Given the description of an element on the screen output the (x, y) to click on. 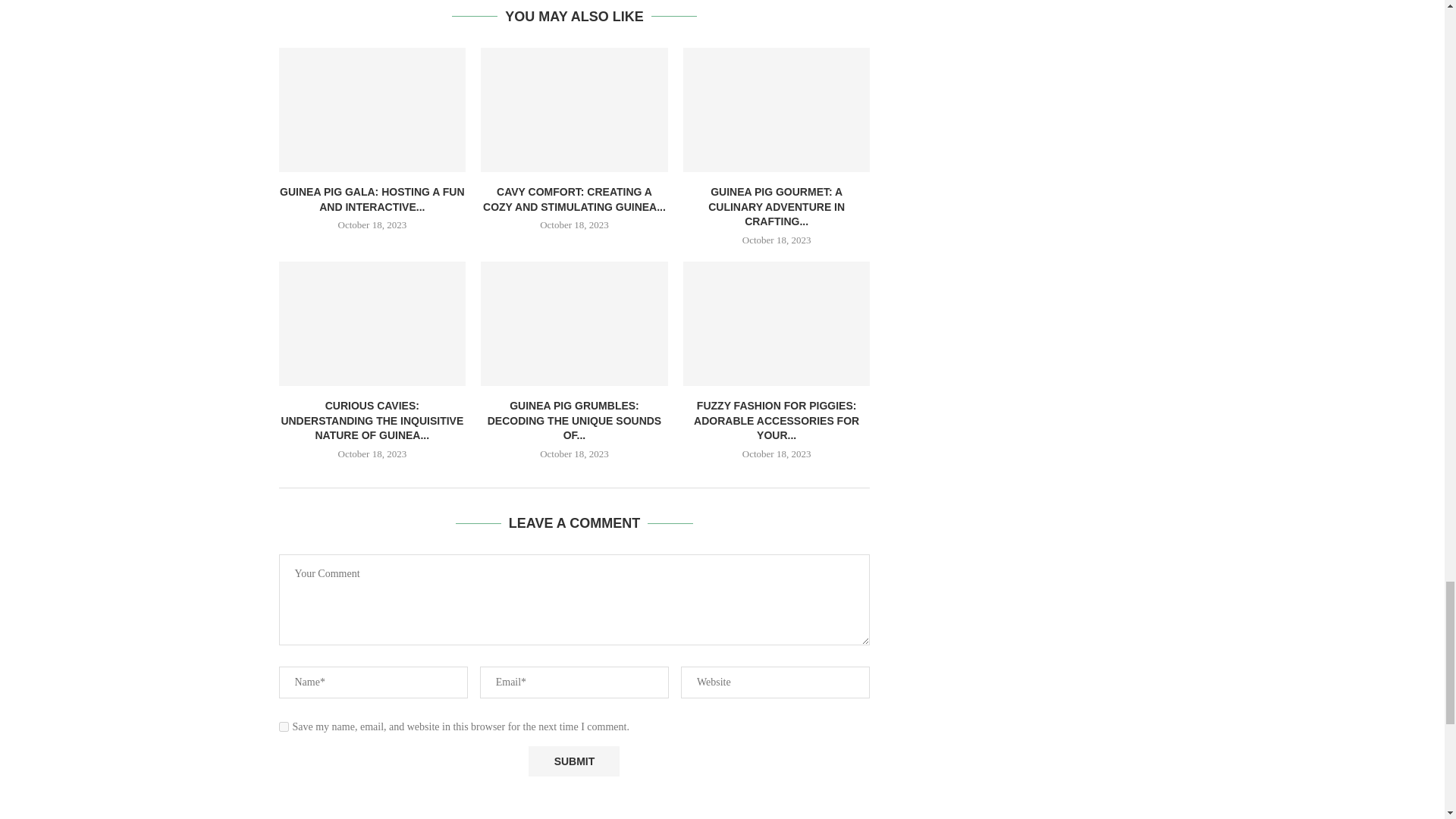
yes (283, 726)
Submit (574, 761)
